Given the description of an element on the screen output the (x, y) to click on. 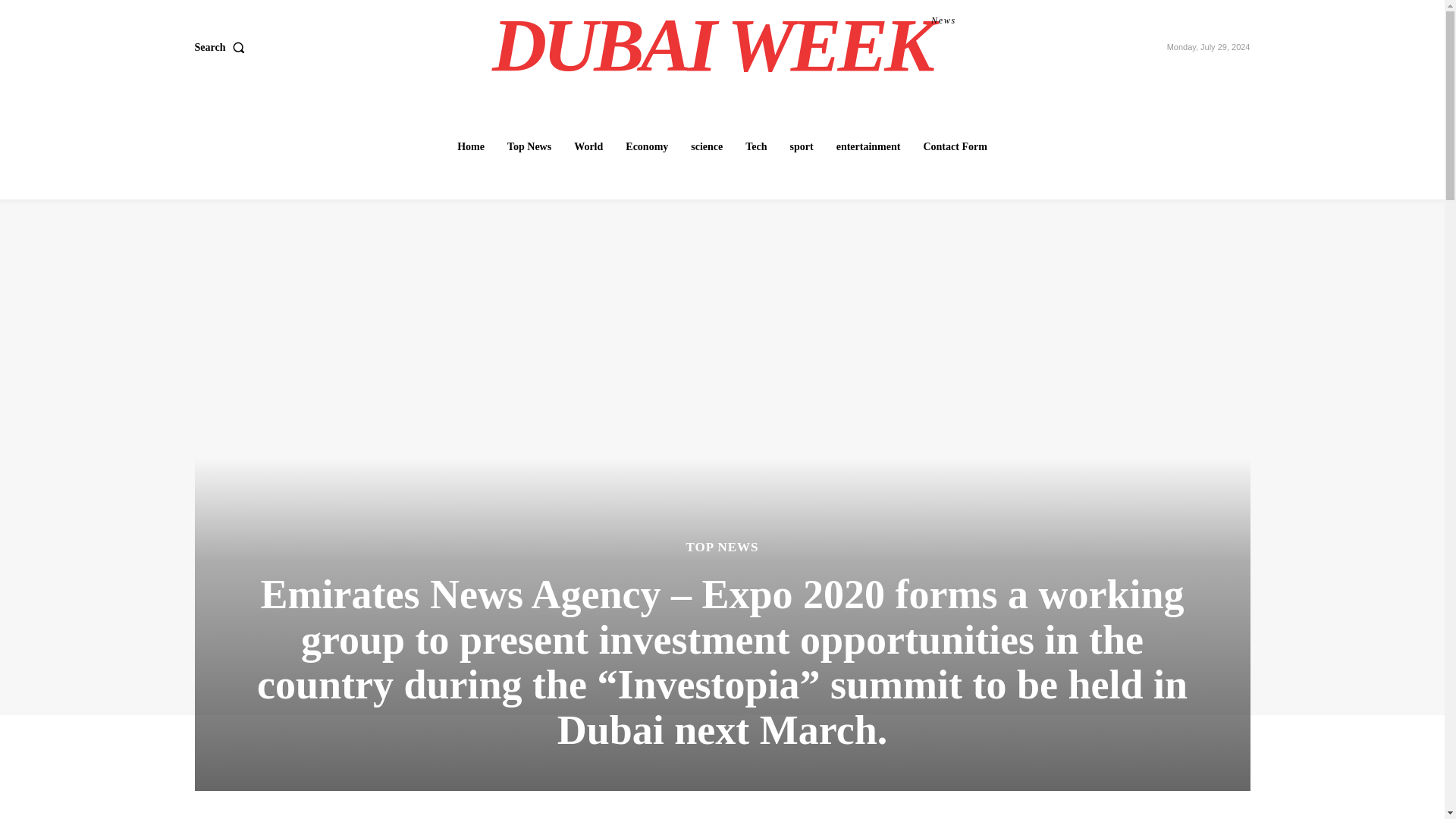
Top News (529, 146)
Economy (646, 146)
Home (470, 146)
World (588, 146)
science (706, 146)
entertainment (868, 146)
Search (724, 45)
sport (221, 47)
Tech (802, 146)
Contact Form (756, 146)
